Given the description of an element on the screen output the (x, y) to click on. 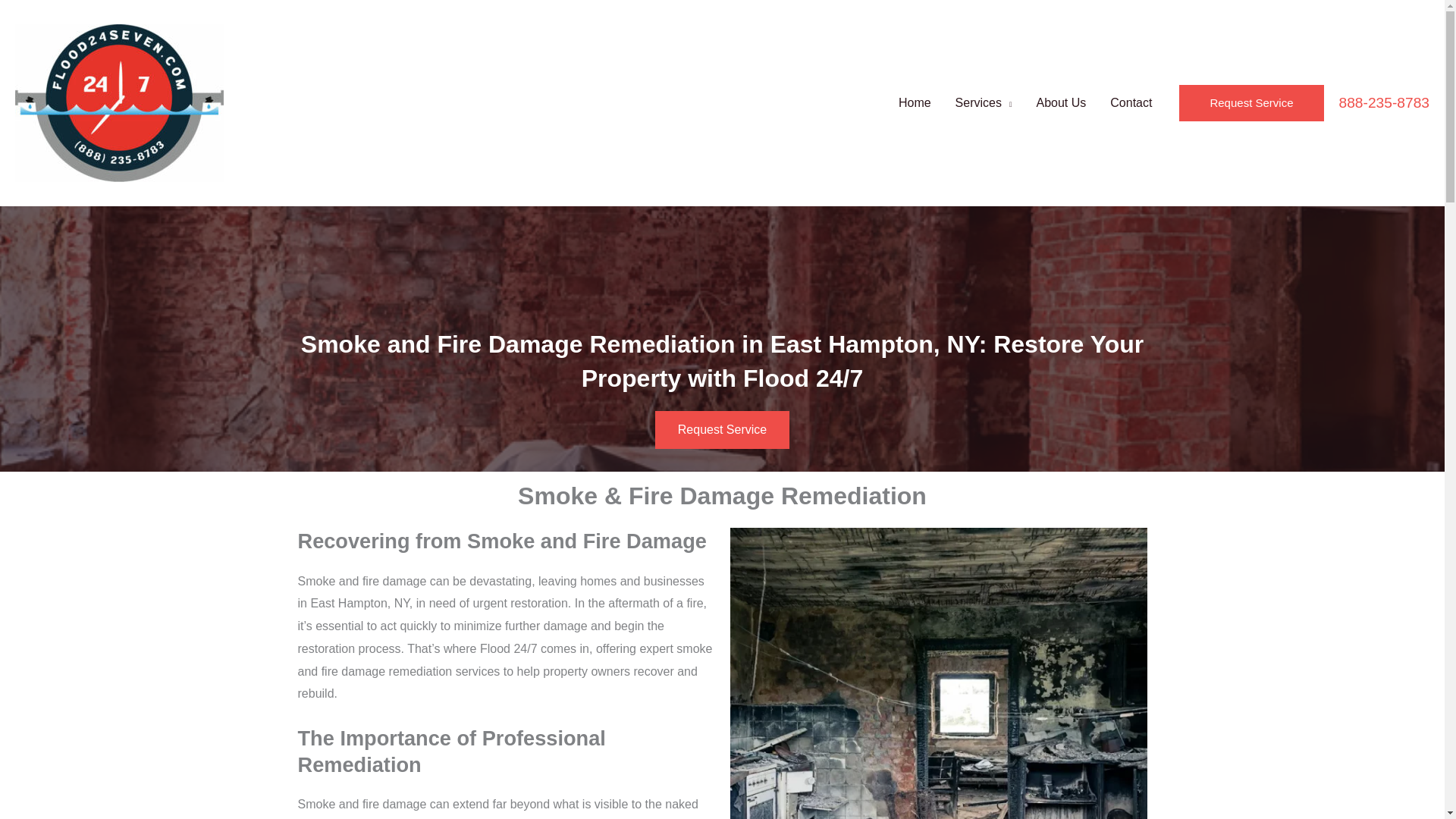
About Us (1060, 102)
888-235-8783 (1384, 103)
Request Service (722, 429)
1c65878a-b19c-44c7-9d38-16577358255e (938, 673)
Contact (1130, 102)
Services (984, 102)
Request Service (1251, 103)
Home (914, 102)
